Given the description of an element on the screen output the (x, y) to click on. 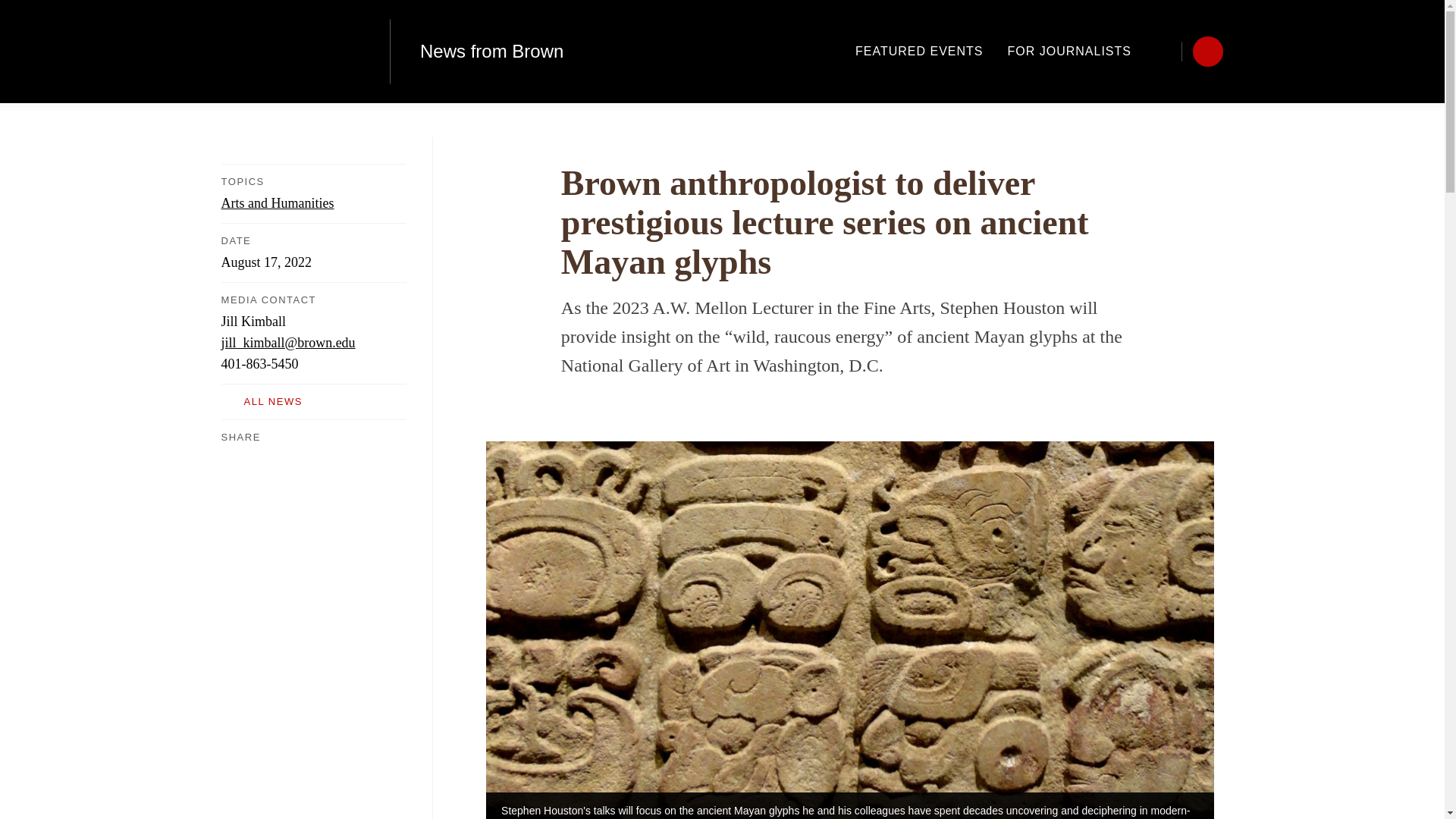
Linkedin (290, 456)
FEATURED EVENTS (919, 51)
Email (321, 456)
FOR JOURNALISTS (1069, 51)
401-863-5450 (259, 363)
Arts and Humanities (277, 202)
Brown University (290, 51)
Search (1165, 51)
News from Brown (491, 50)
ALL NEWS (313, 401)
Facebook (229, 456)
Menu (1207, 51)
